Given the description of an element on the screen output the (x, y) to click on. 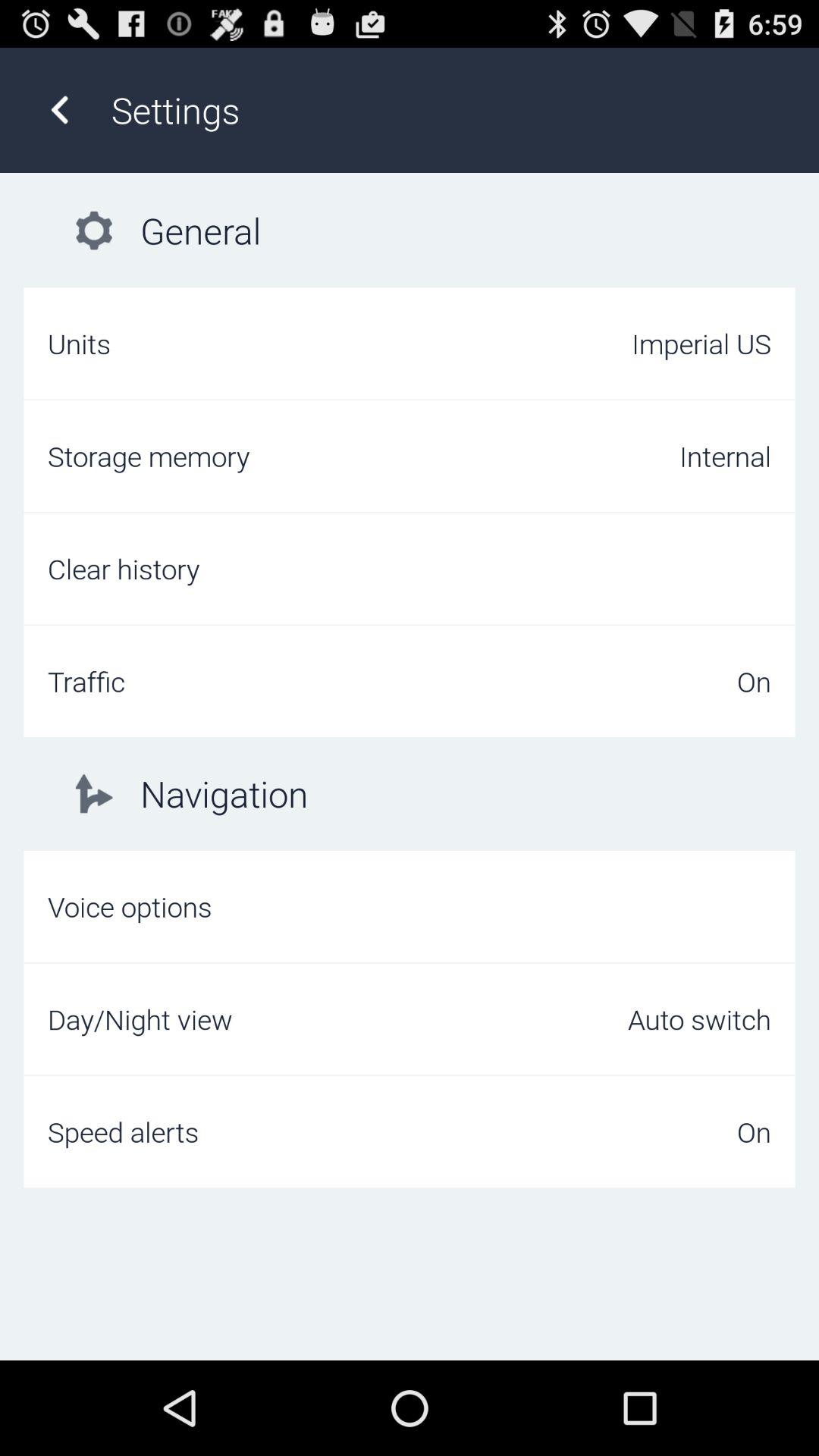
click the traffic button (409, 681)
